Given the description of an element on the screen output the (x, y) to click on. 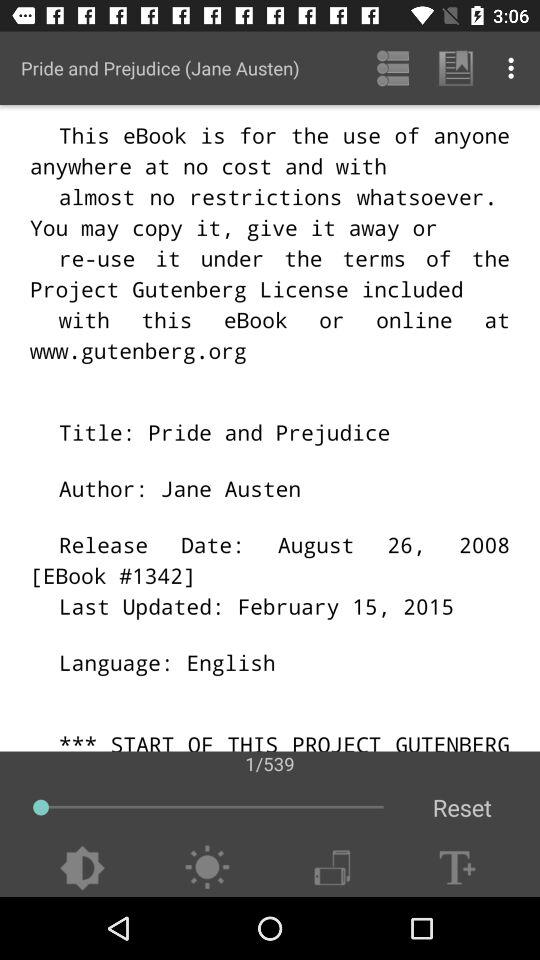
flip screen (331, 867)
